Given the description of an element on the screen output the (x, y) to click on. 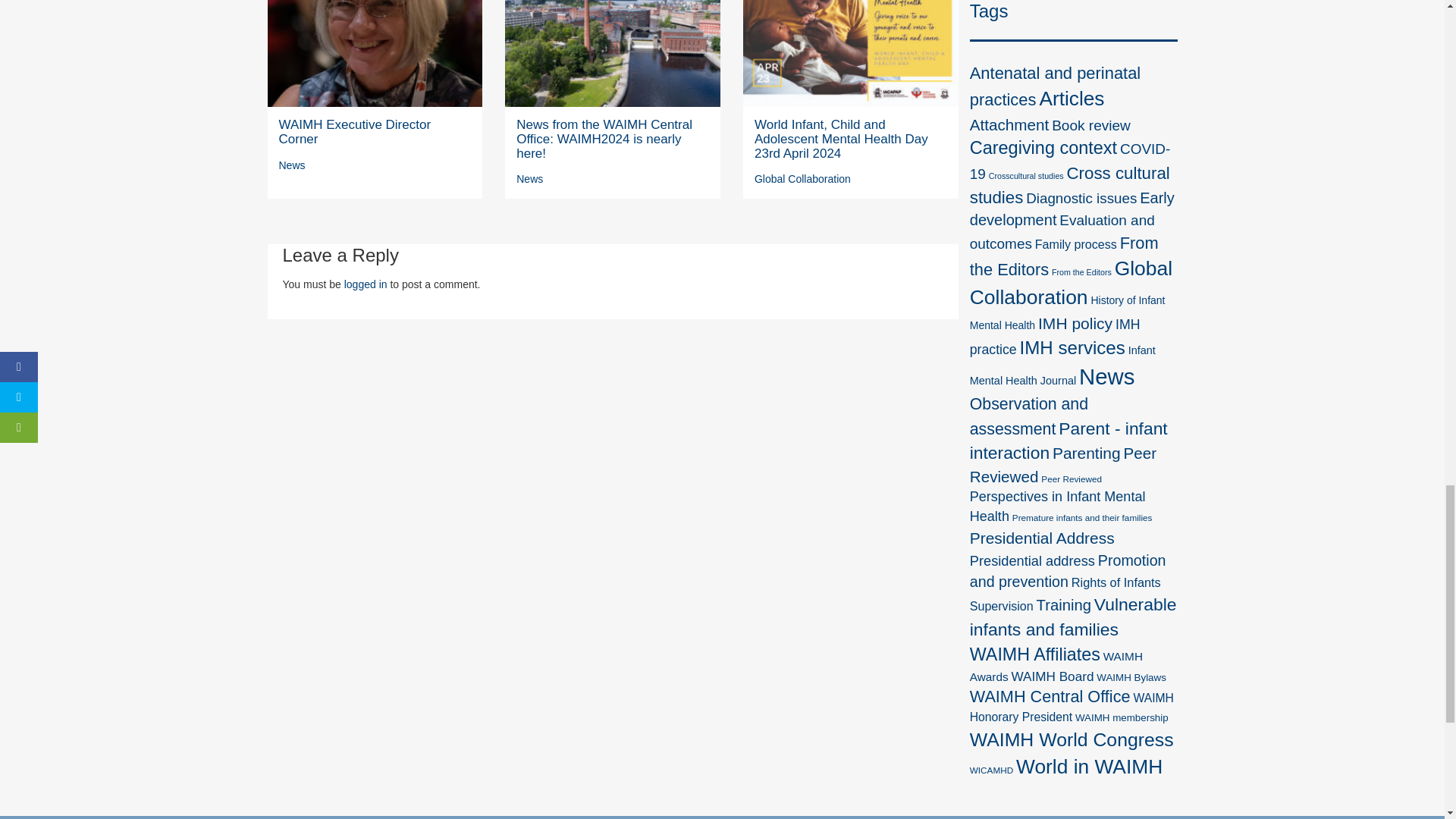
Global Collaboration (802, 178)
View all posts in News (529, 178)
WAIMH Executive Director Corner (354, 131)
News (529, 178)
News (292, 164)
View all posts in News (292, 164)
View all posts in Global Collaboration (802, 178)
